Given the description of an element on the screen output the (x, y) to click on. 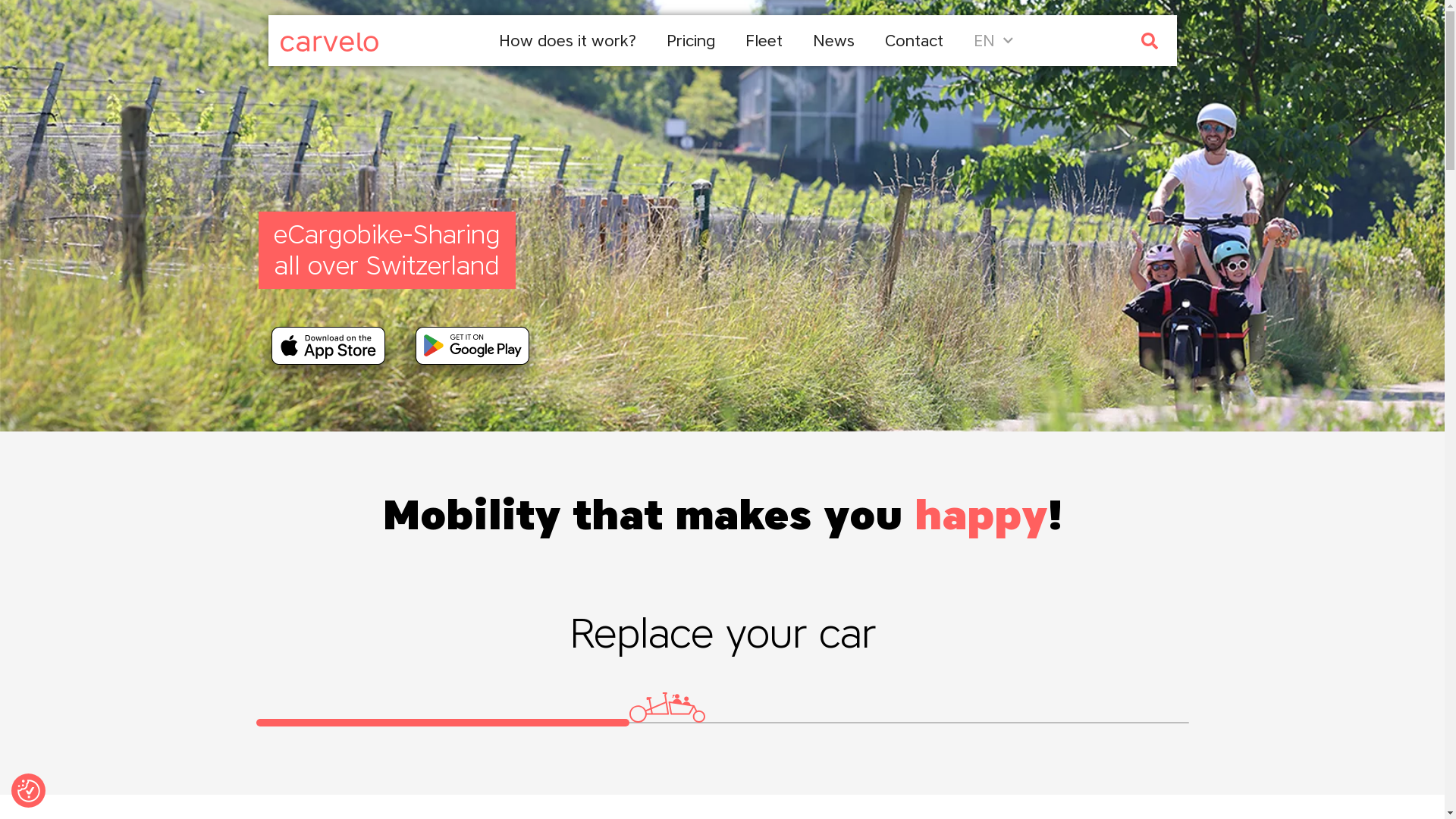
Pricing Element type: text (690, 40)
Contact Element type: text (913, 40)
EN Element type: text (993, 40)
News Element type: text (833, 40)
Fleet Element type: text (763, 40)
How does it work? Element type: text (567, 40)
